Given the description of an element on the screen output the (x, y) to click on. 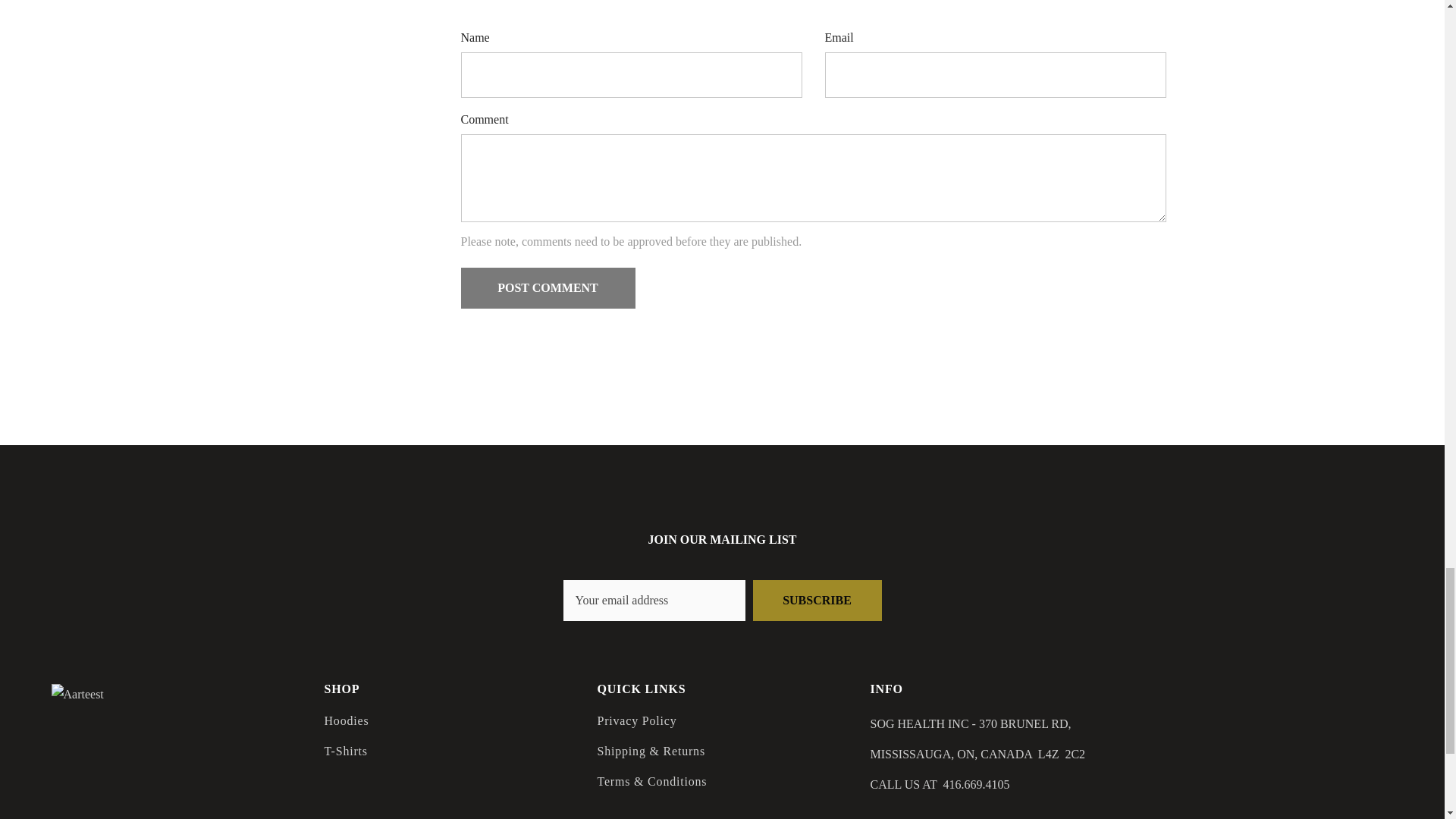
SUBSCRIBE (816, 599)
Hoodies (346, 720)
Post comment (547, 287)
Post comment (547, 287)
